Given the description of an element on the screen output the (x, y) to click on. 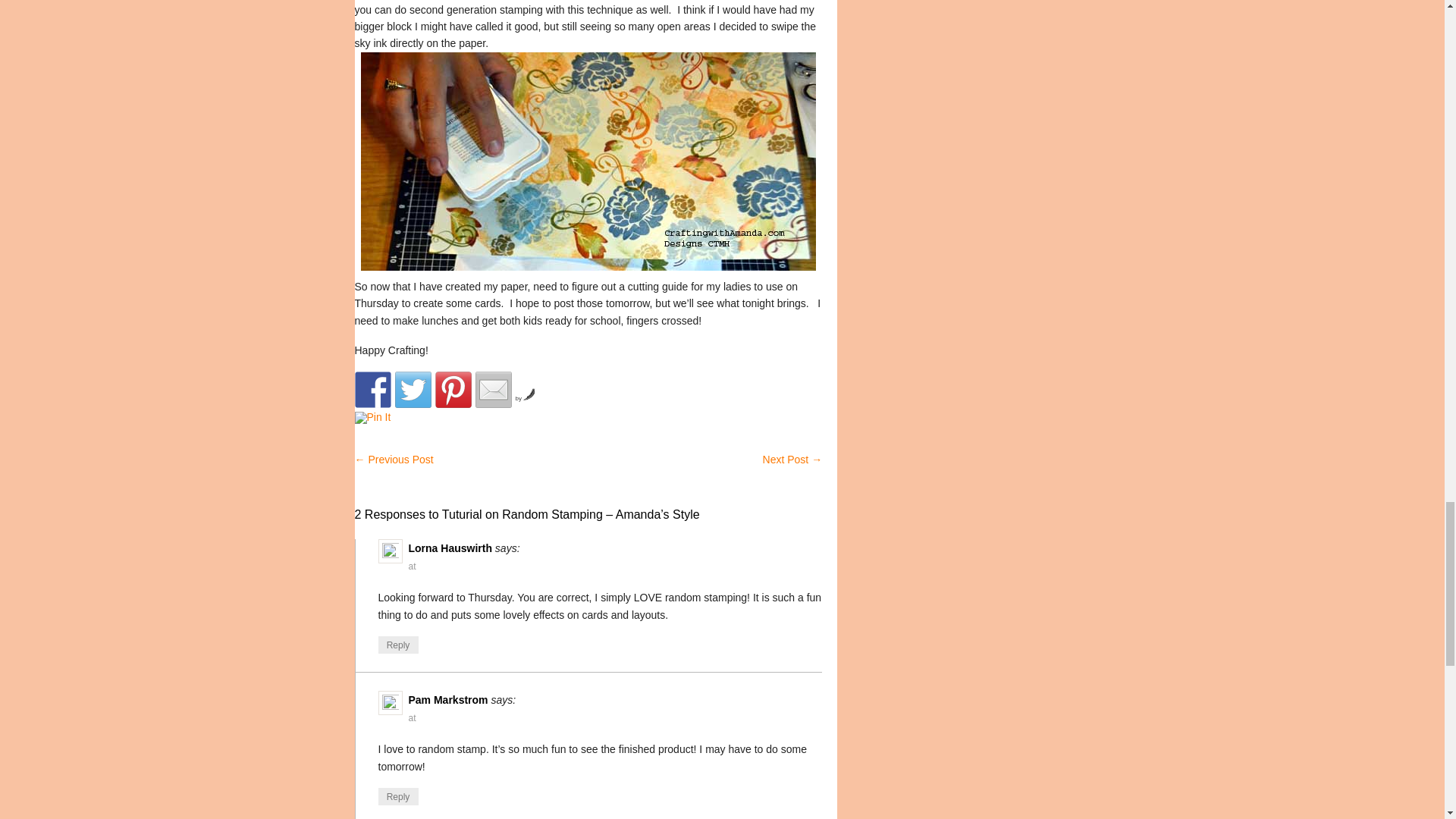
Share on Facebook (373, 389)
by (525, 398)
Share by email (492, 389)
WordPress Social Media Feather (525, 398)
Share on Twitter (412, 389)
Pin It (373, 417)
Pin it with Pinterest (453, 389)
Reply (397, 796)
Reply (397, 644)
